Given the description of an element on the screen output the (x, y) to click on. 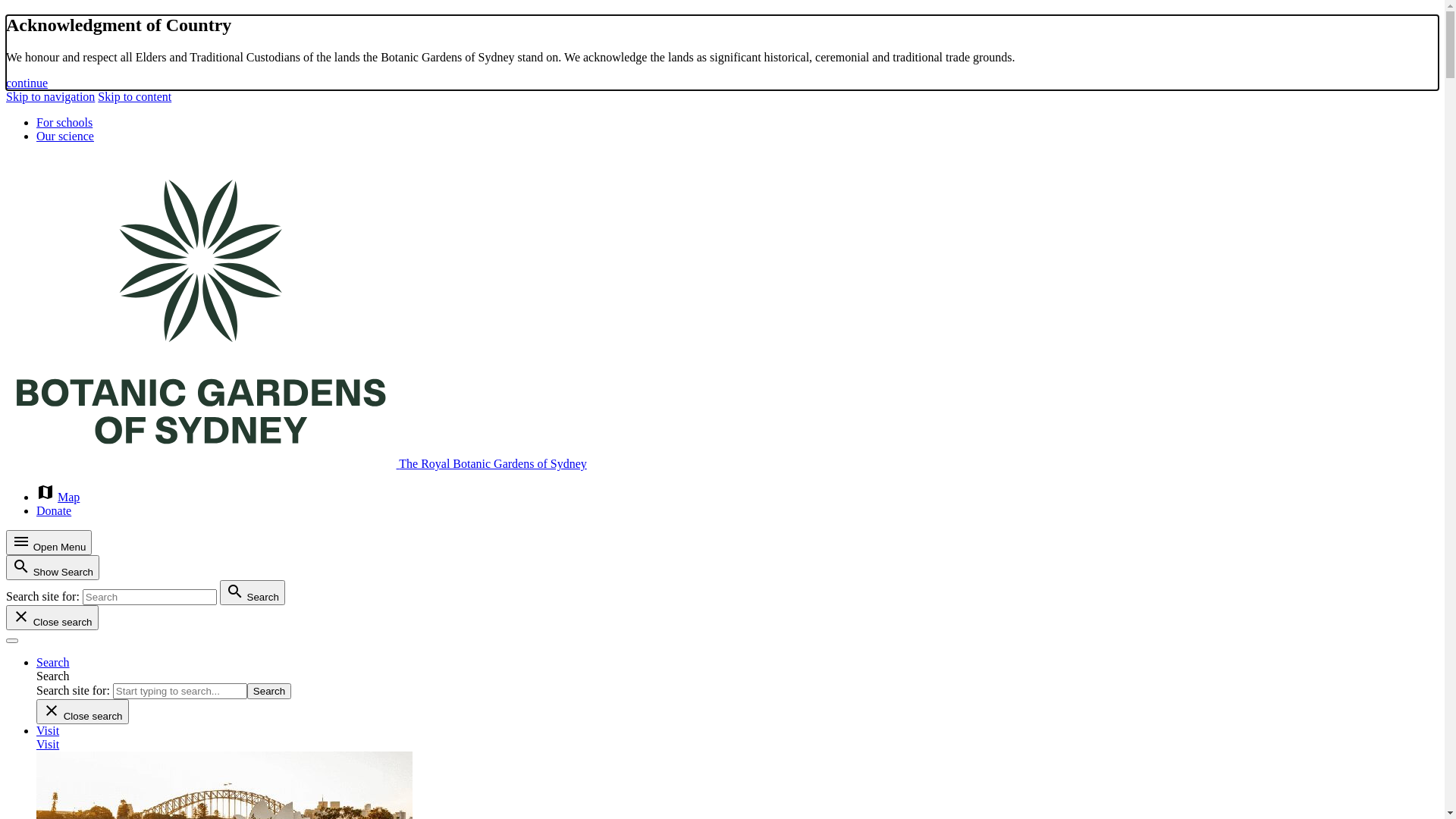
The Royal Botanic Gardens of Sydney Element type: text (296, 463)
search Search Element type: text (252, 592)
search Show Search Element type: text (52, 567)
Donate Element type: text (53, 510)
Our science Element type: text (65, 135)
Visit Element type: text (47, 743)
close Close search Element type: text (52, 617)
Map Element type: text (68, 496)
For schools Element type: text (64, 122)
continue Element type: text (26, 82)
Search Element type: text (52, 661)
Visit Element type: text (47, 730)
Search Element type: text (269, 691)
Skip to navigation Element type: text (50, 96)
Skip to content Element type: text (134, 96)
close Close search Element type: text (82, 711)
menu Open Menu Element type: text (48, 542)
